Given the description of an element on the screen output the (x, y) to click on. 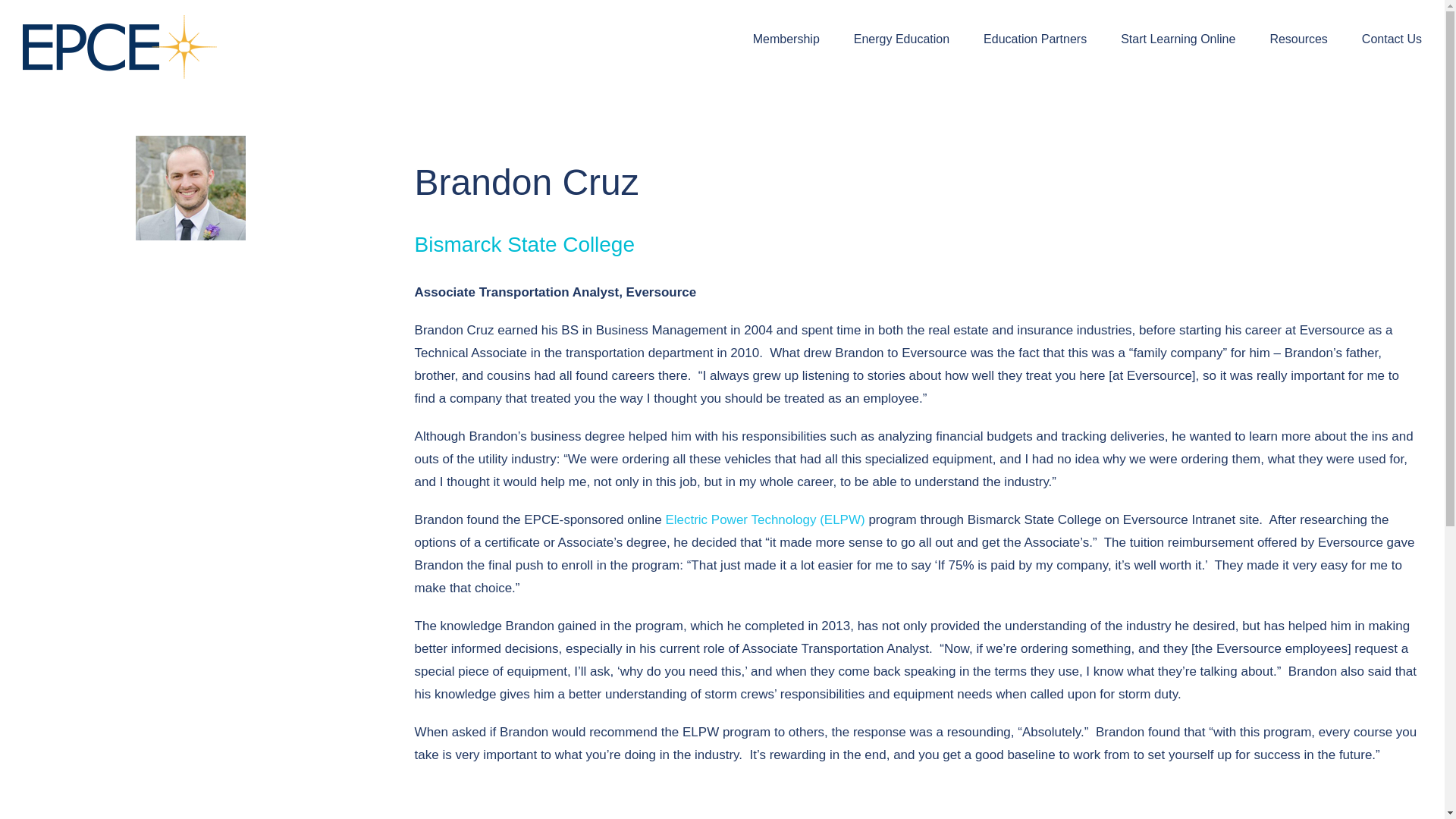
Energy Education (901, 38)
EPCE MEMBERS AND EDUCATION PARTNERS (722, 807)
brandon-cruz (190, 187)
